Given the description of an element on the screen output the (x, y) to click on. 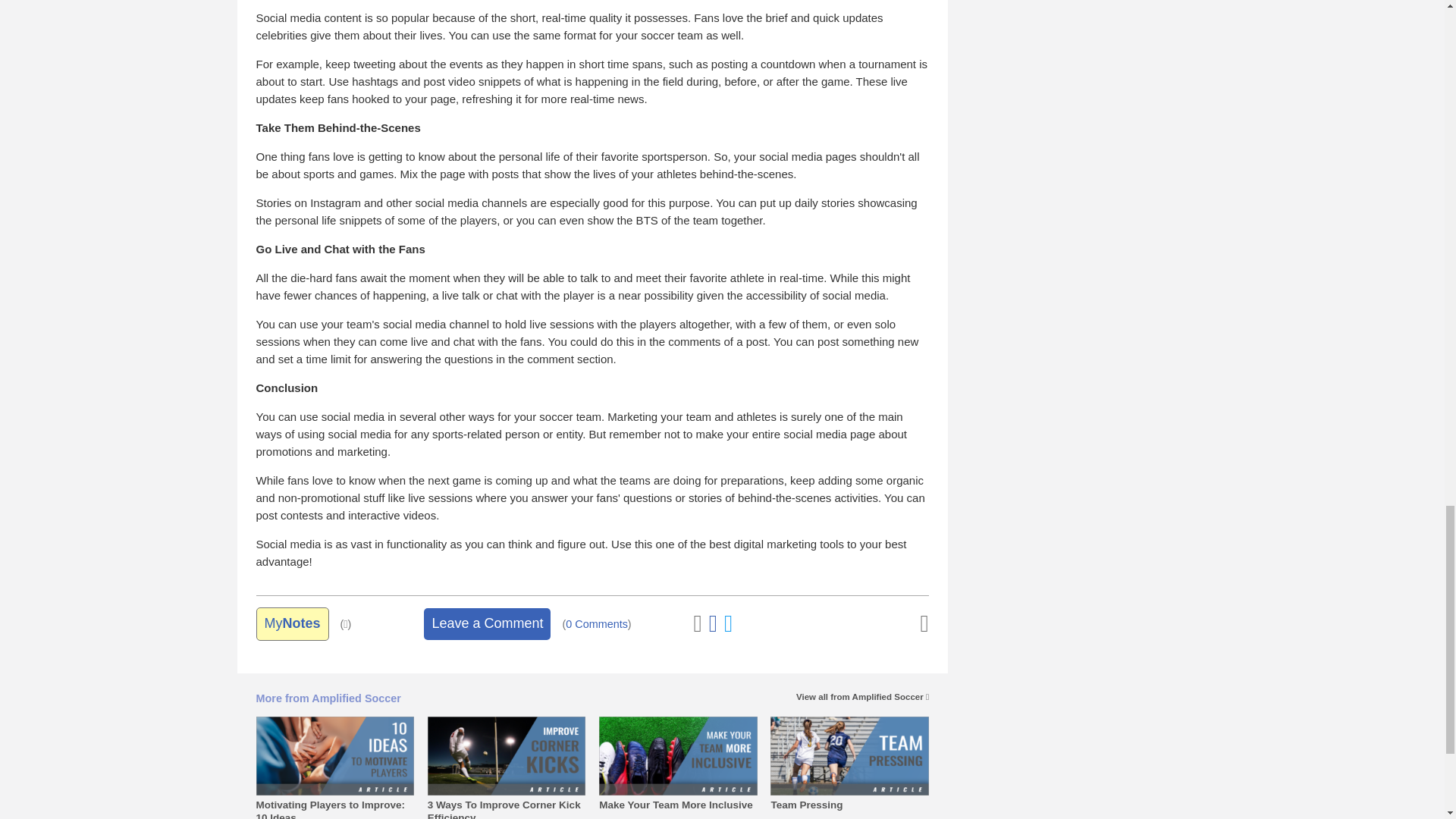
Leave a Comment (486, 623)
0 (596, 624)
Leave a Comment (486, 623)
MyNotes (292, 623)
MyNotes (292, 623)
